Given the description of an element on the screen output the (x, y) to click on. 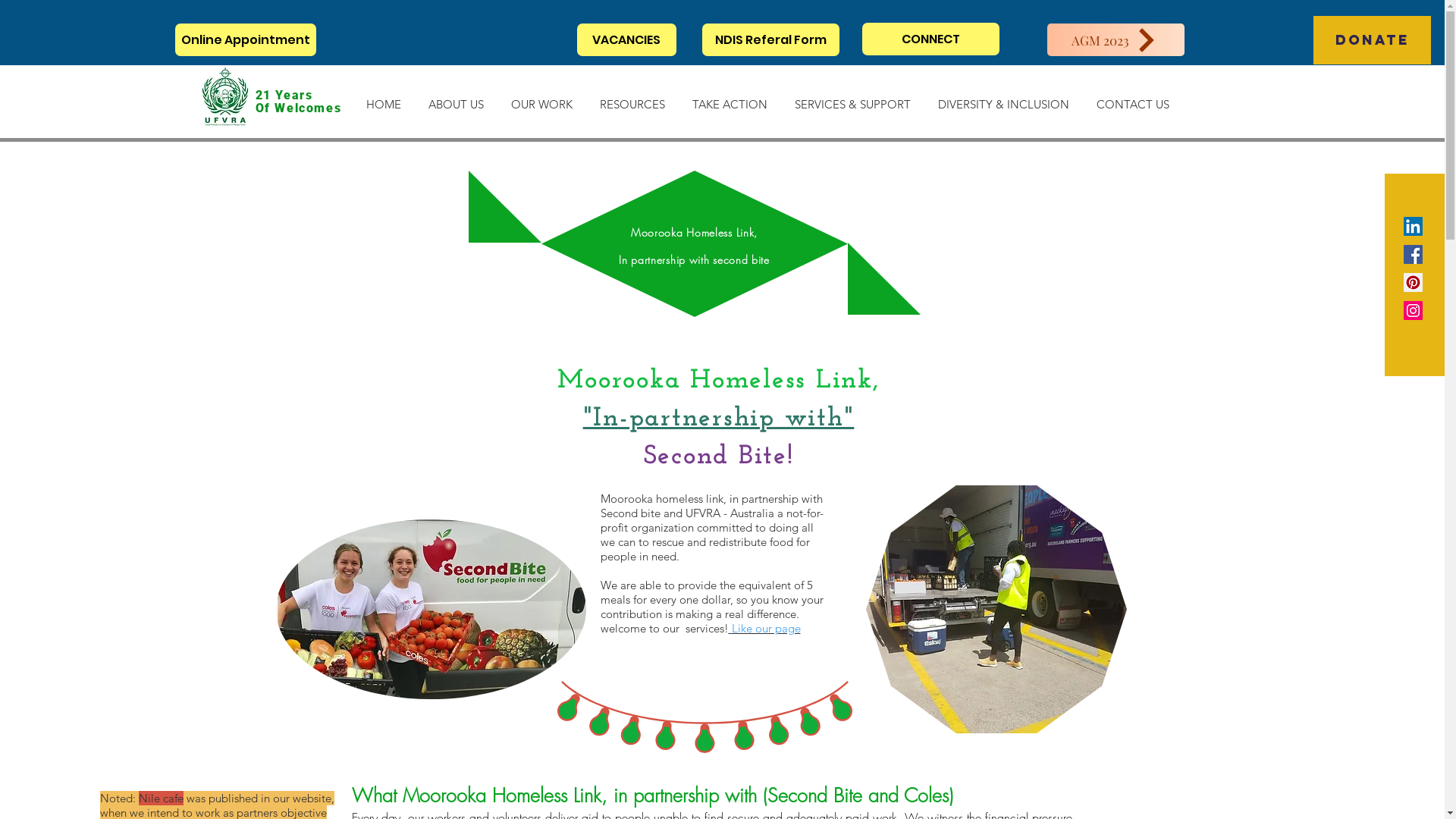
DONATE Element type: text (1371, 39)
TAKE ACTION Element type: text (728, 97)
Like our page Element type: text (764, 628)
VACANCIES Element type: text (625, 39)
SERVICES & SUPPORT Element type: text (852, 97)
Log In Element type: text (1225, 38)
CONTACT US Element type: text (1132, 97)
RESOURCES Element type: text (631, 97)
AGM 2023 Element type: text (1114, 39)
CONNECT Element type: text (929, 38)
DIVERSITY & INCLUSION Element type: text (1002, 97)
HOME Element type: text (382, 97)
NDIS Referal Form Element type: text (770, 39)
OUR WORK Element type: text (541, 97)
Online Appointment Element type: text (244, 39)
ABOUT US Element type: text (455, 97)
